Given the description of an element on the screen output the (x, y) to click on. 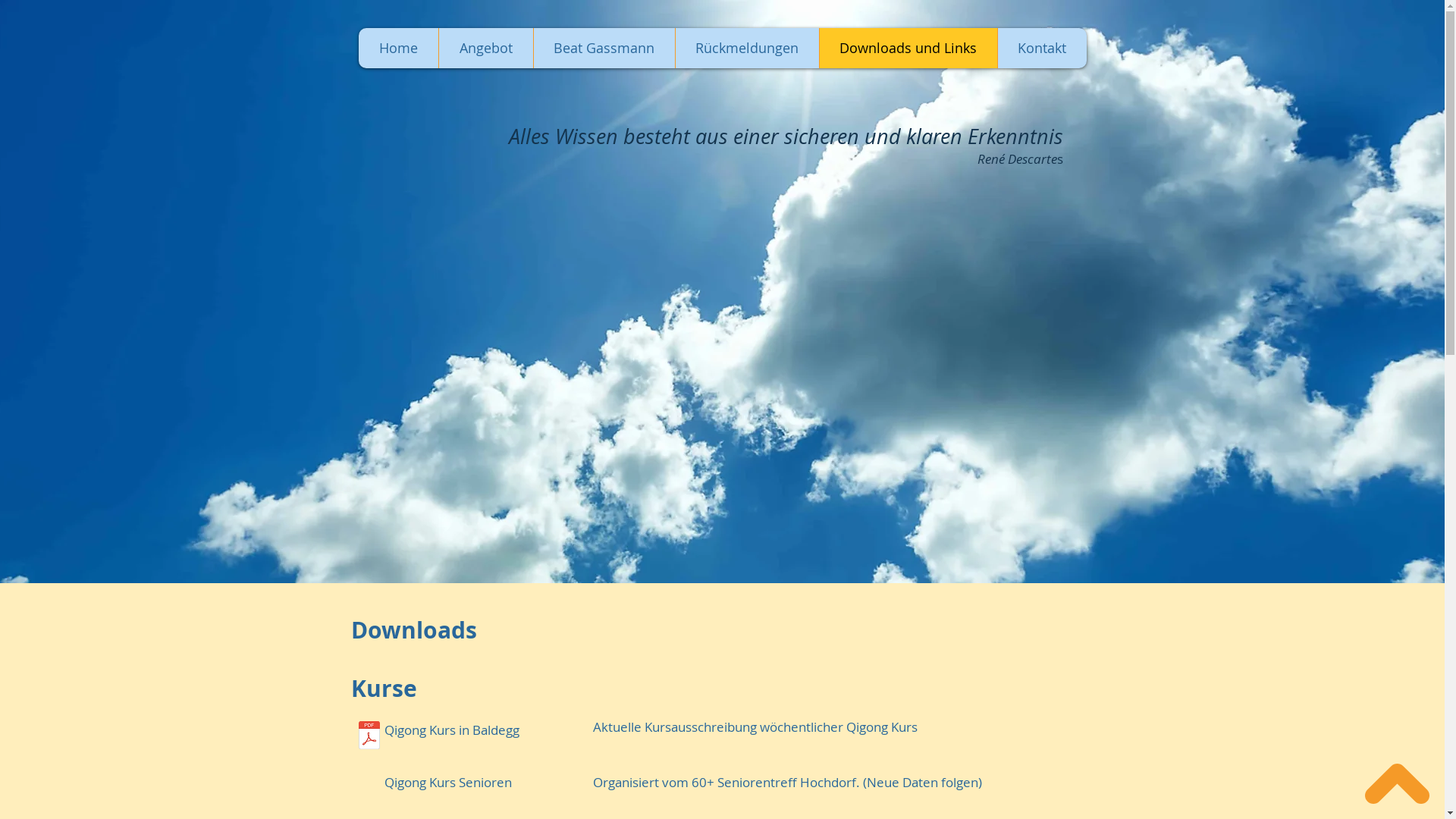
QigongBaldeggAugust23-Februar24.pdf Element type: hover (368, 737)
Beat Gassmann Element type: text (603, 48)
Downloads und Links Element type: text (908, 48)
Kontakt Element type: text (1040, 48)
Angebot Element type: text (485, 48)
Home Element type: text (397, 48)
